Given the description of an element on the screen output the (x, y) to click on. 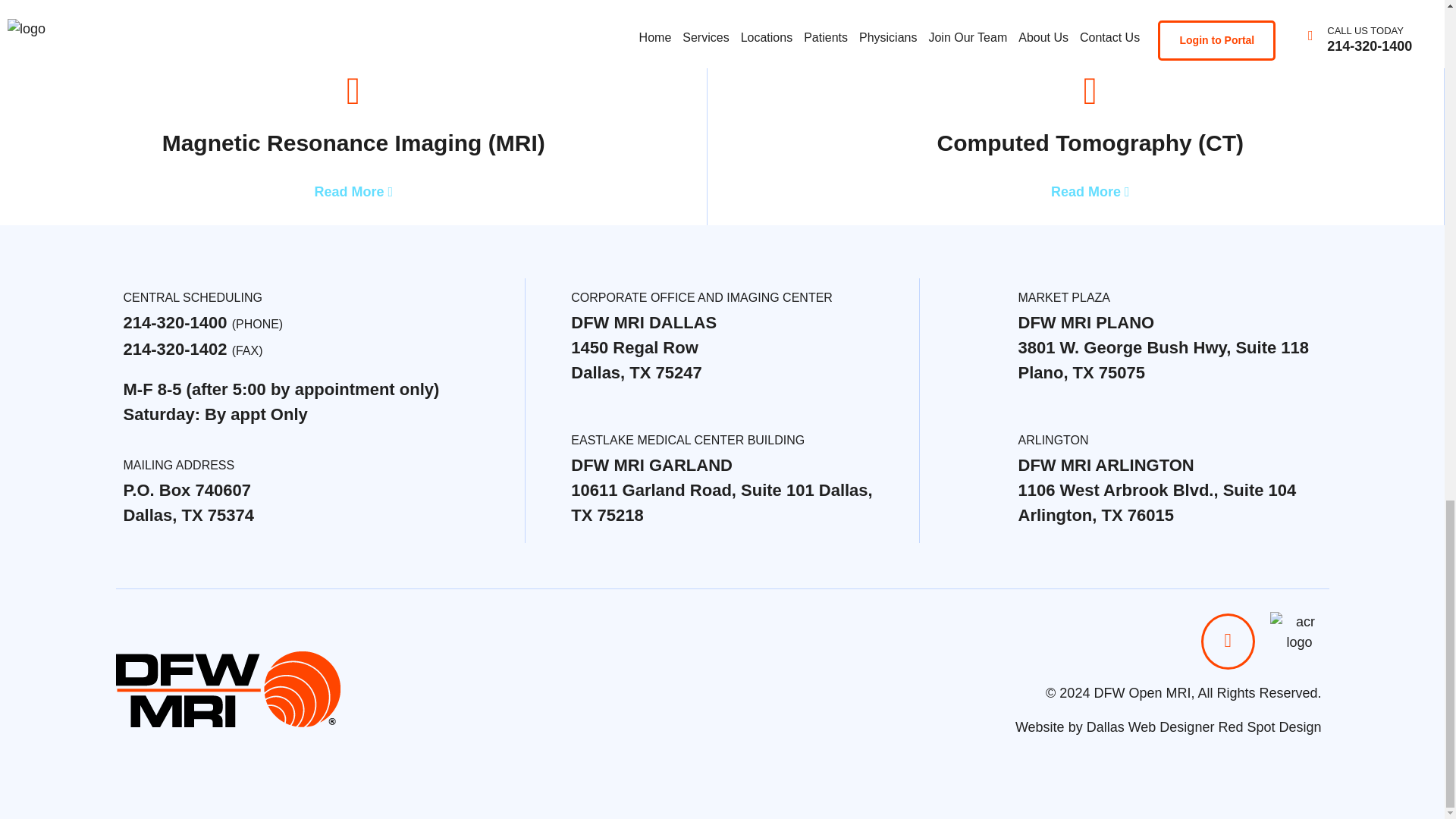
Read More (1090, 192)
Read More (353, 192)
